Given the description of an element on the screen output the (x, y) to click on. 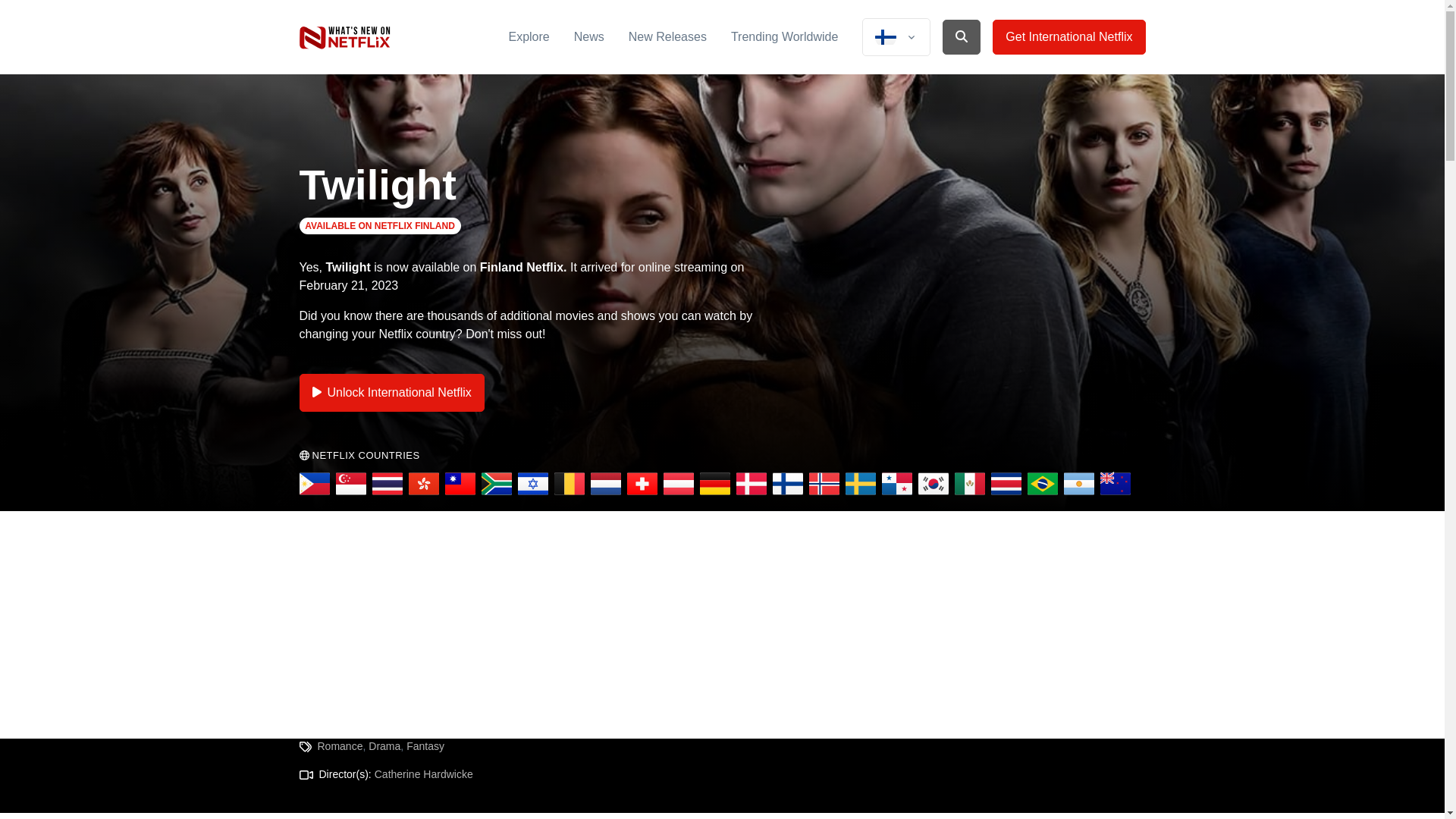
Explore (528, 36)
Thailand (386, 483)
Denmark (750, 483)
Netherlands (604, 483)
Sweden (859, 483)
Norway (823, 483)
Finland (786, 483)
South Africa (495, 483)
Costa Rica (1005, 483)
Mexico (968, 483)
Philippines (313, 483)
Austria (677, 483)
Belgium (568, 483)
Switzerland (641, 483)
News (588, 36)
